Given the description of an element on the screen output the (x, y) to click on. 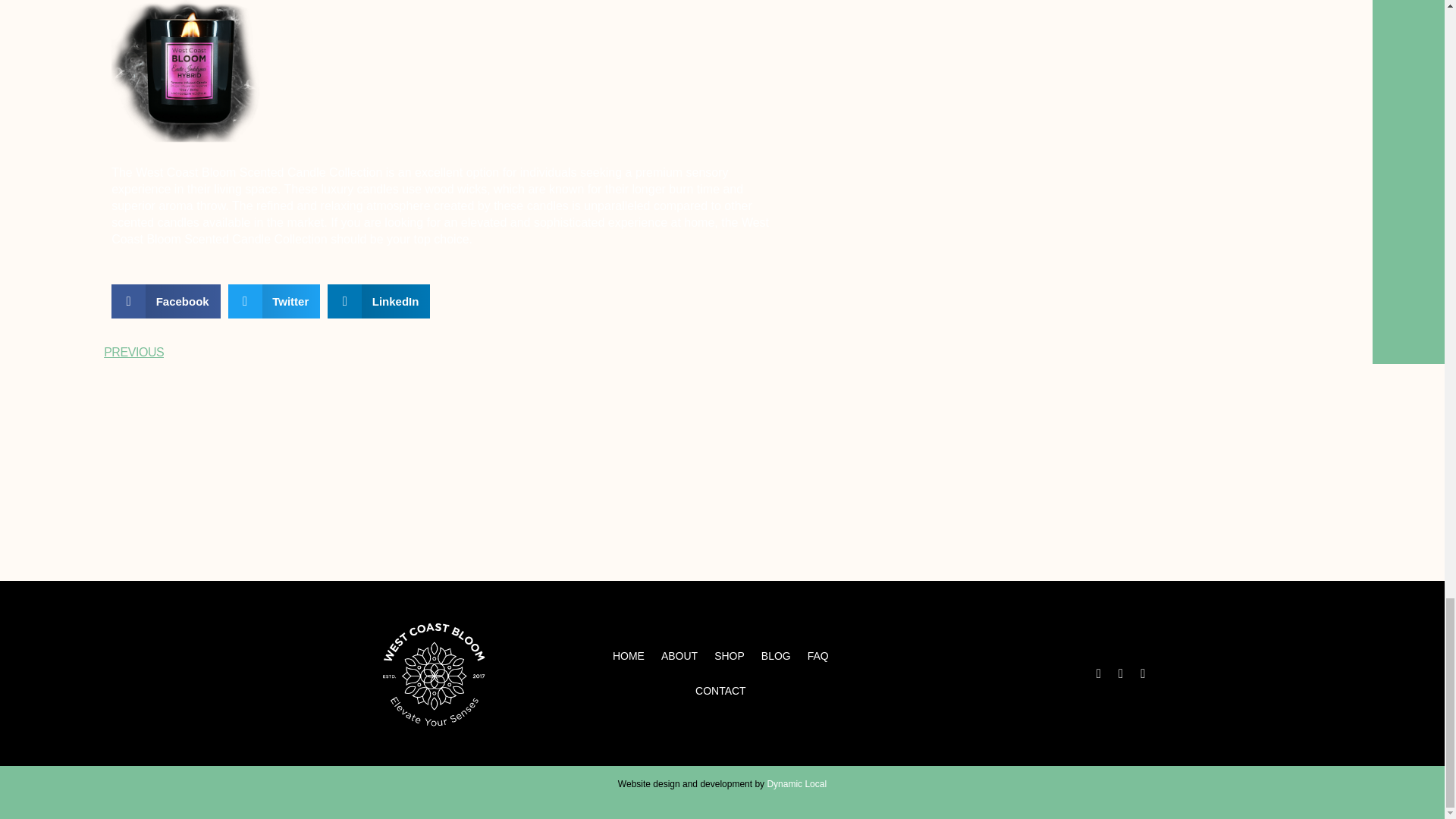
PREVIOUS (272, 352)
HOME (628, 655)
ABOUT (679, 655)
BLOG (775, 655)
CONTACT (720, 690)
FAQ (818, 655)
Dynamic Local (797, 783)
SHOP (729, 655)
